Given the description of an element on the screen output the (x, y) to click on. 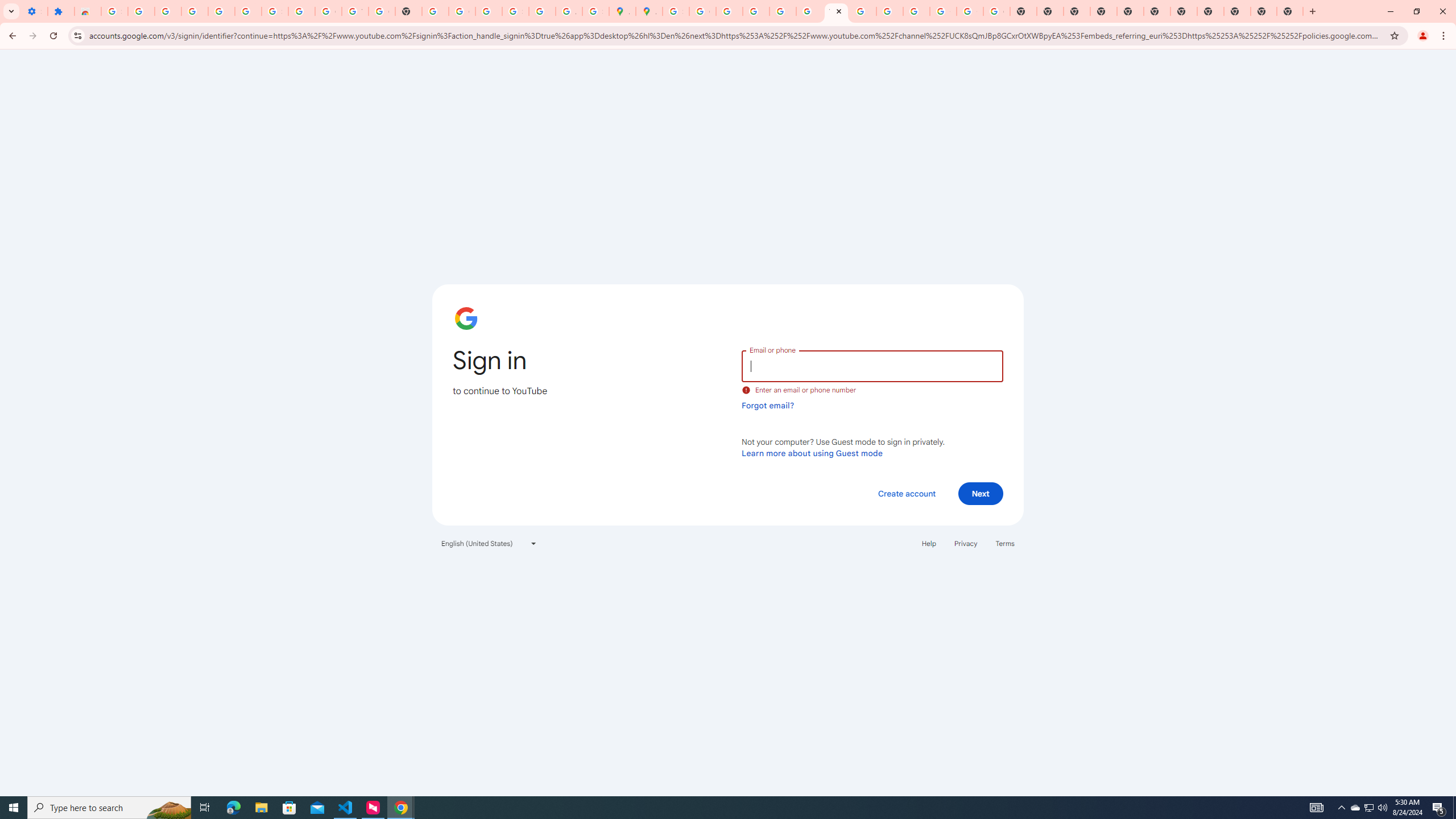
English (United States) (489, 542)
Learn more about using Guest mode (812, 452)
Privacy Help Center - Policies Help (756, 11)
